Given the description of an element on the screen output the (x, y) to click on. 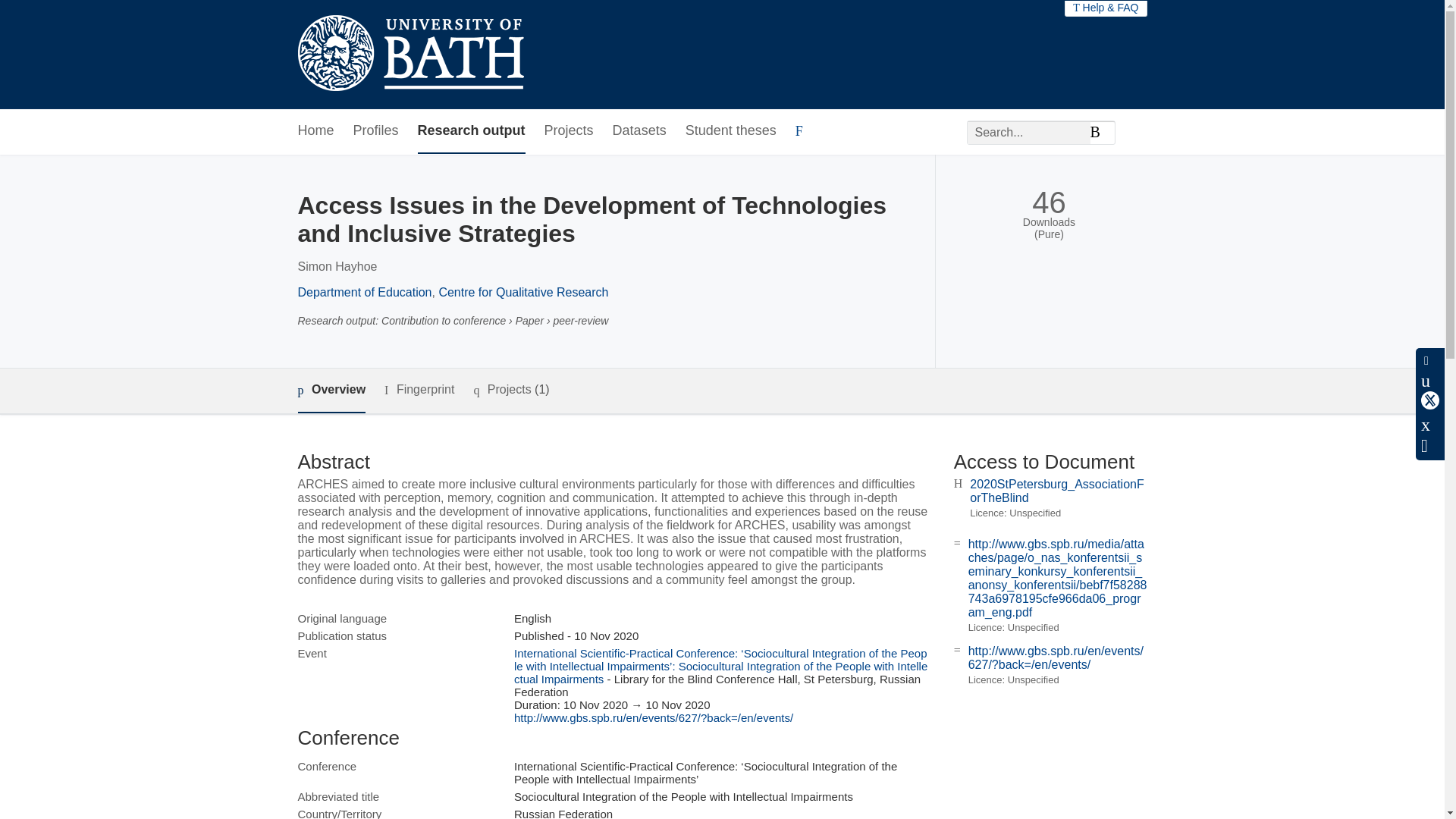
Department of Education (363, 291)
Centre for Qualitative Research (523, 291)
Profiles (375, 130)
Research output (471, 130)
Overview (331, 390)
Student theses (730, 130)
Fingerprint (419, 389)
Datasets (639, 130)
Projects (569, 130)
the University of Bath's research portal Home (409, 54)
